Given the description of an element on the screen output the (x, y) to click on. 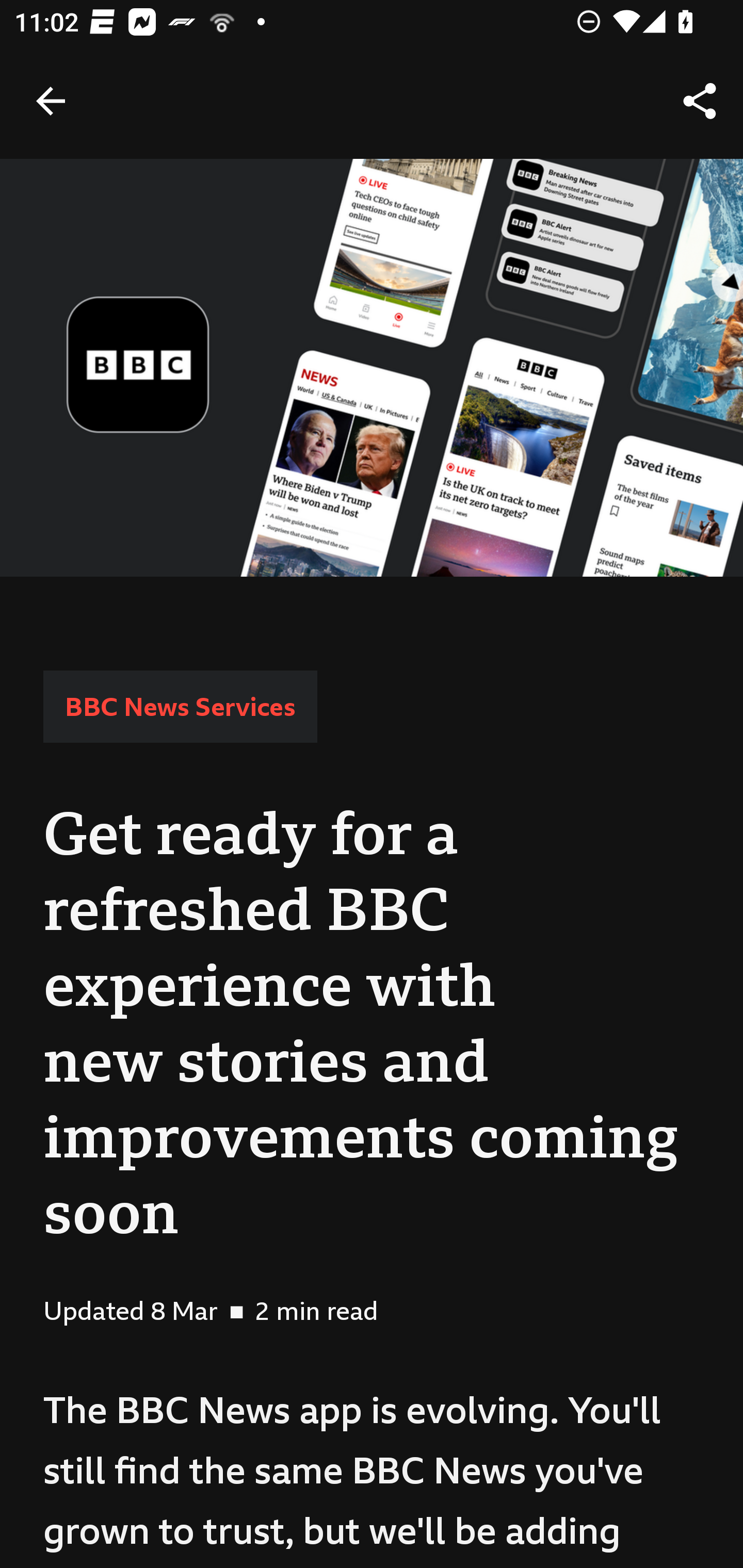
Back (50, 101)
Share (699, 101)
BBC app image (371, 367)
BBC News Services (180, 706)
